Given the description of an element on the screen output the (x, y) to click on. 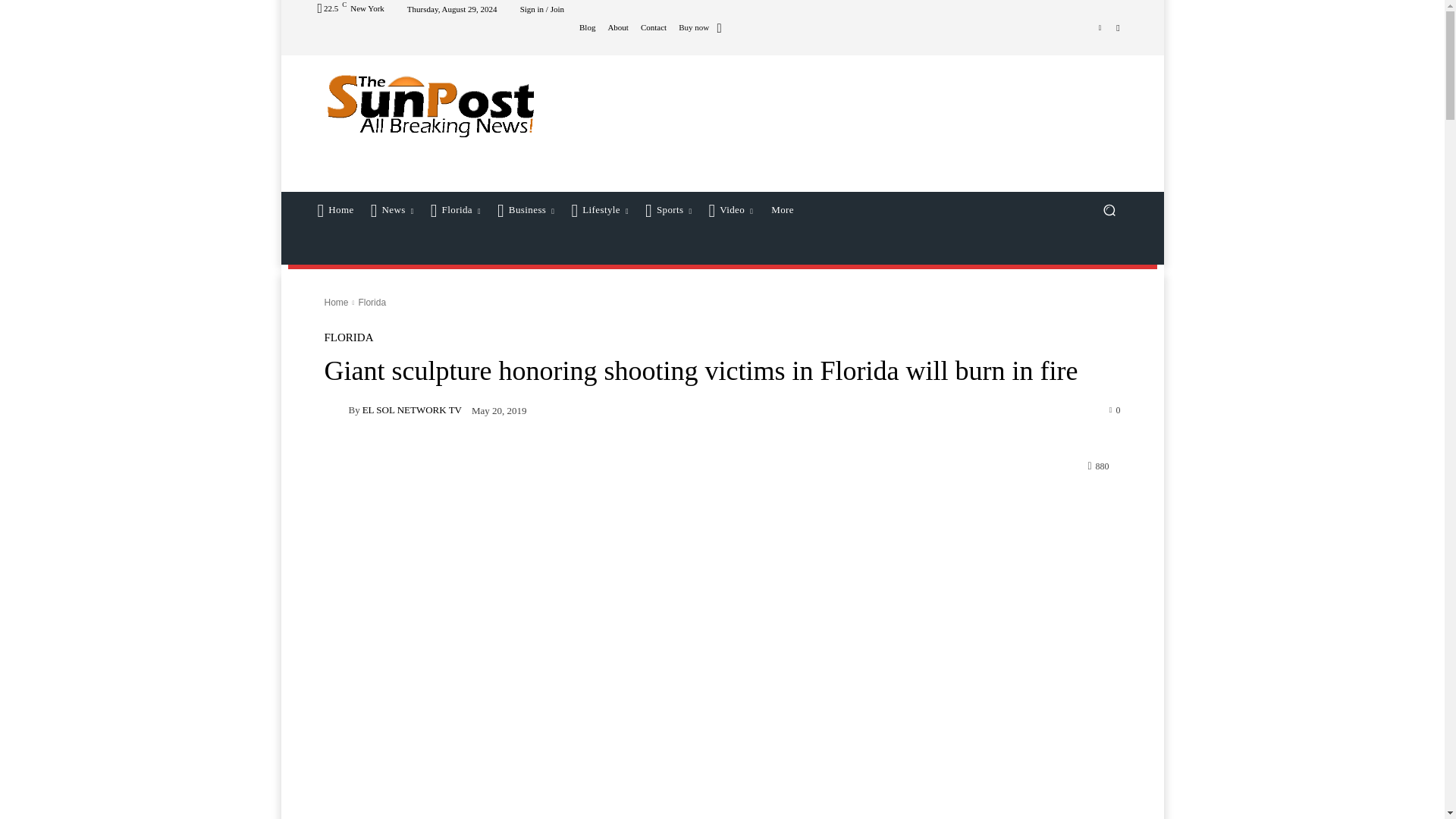
Youtube (1117, 27)
Contact (653, 27)
Blog (587, 27)
About (617, 27)
Vimeo (1099, 27)
